Given the description of an element on the screen output the (x, y) to click on. 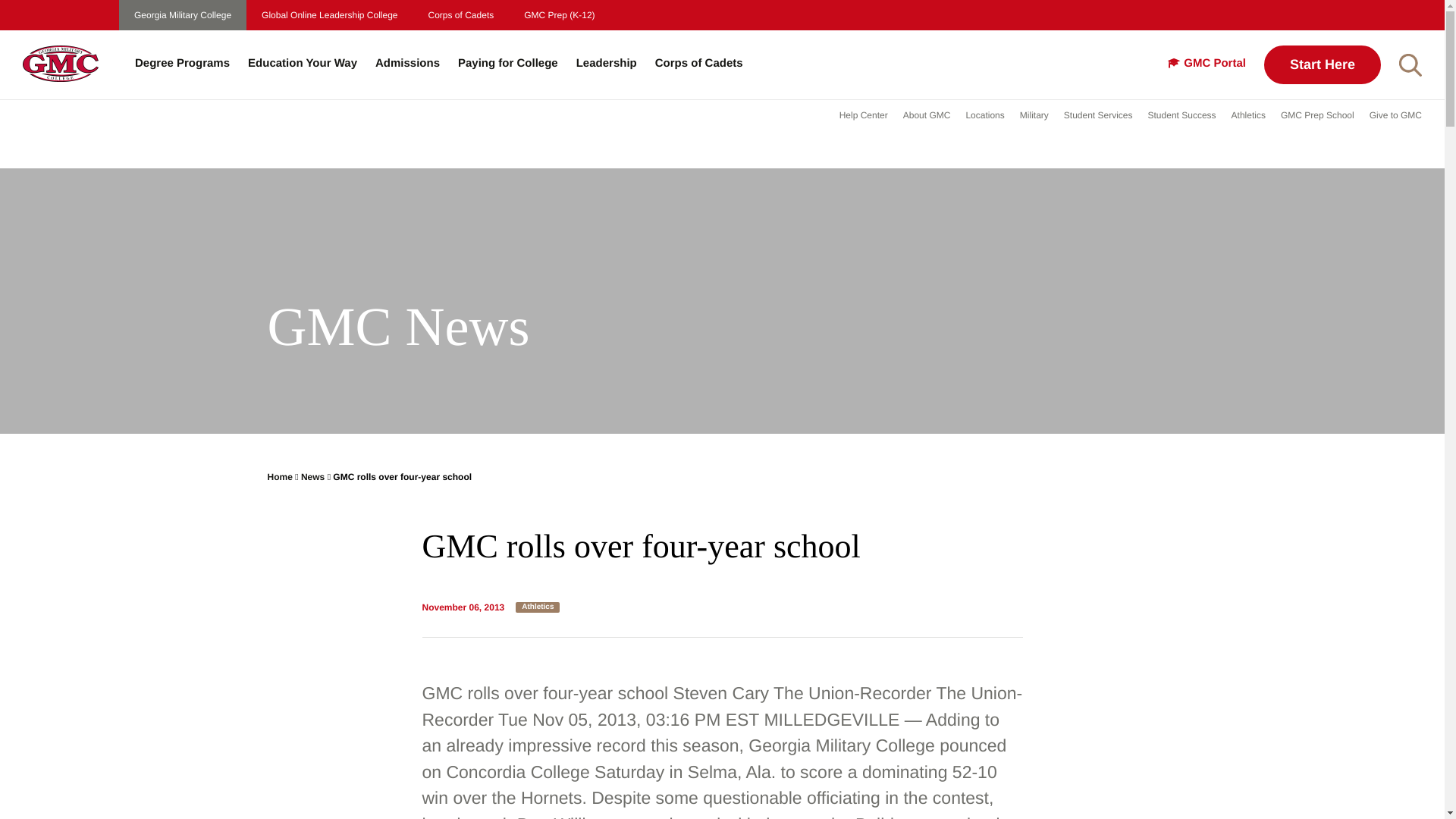
Corps of Cadets (461, 15)
Degree Programs (182, 63)
Global Online Leadership College (329, 15)
Georgia Military College (182, 15)
Education Your Way (301, 63)
